Given the description of an element on the screen output the (x, y) to click on. 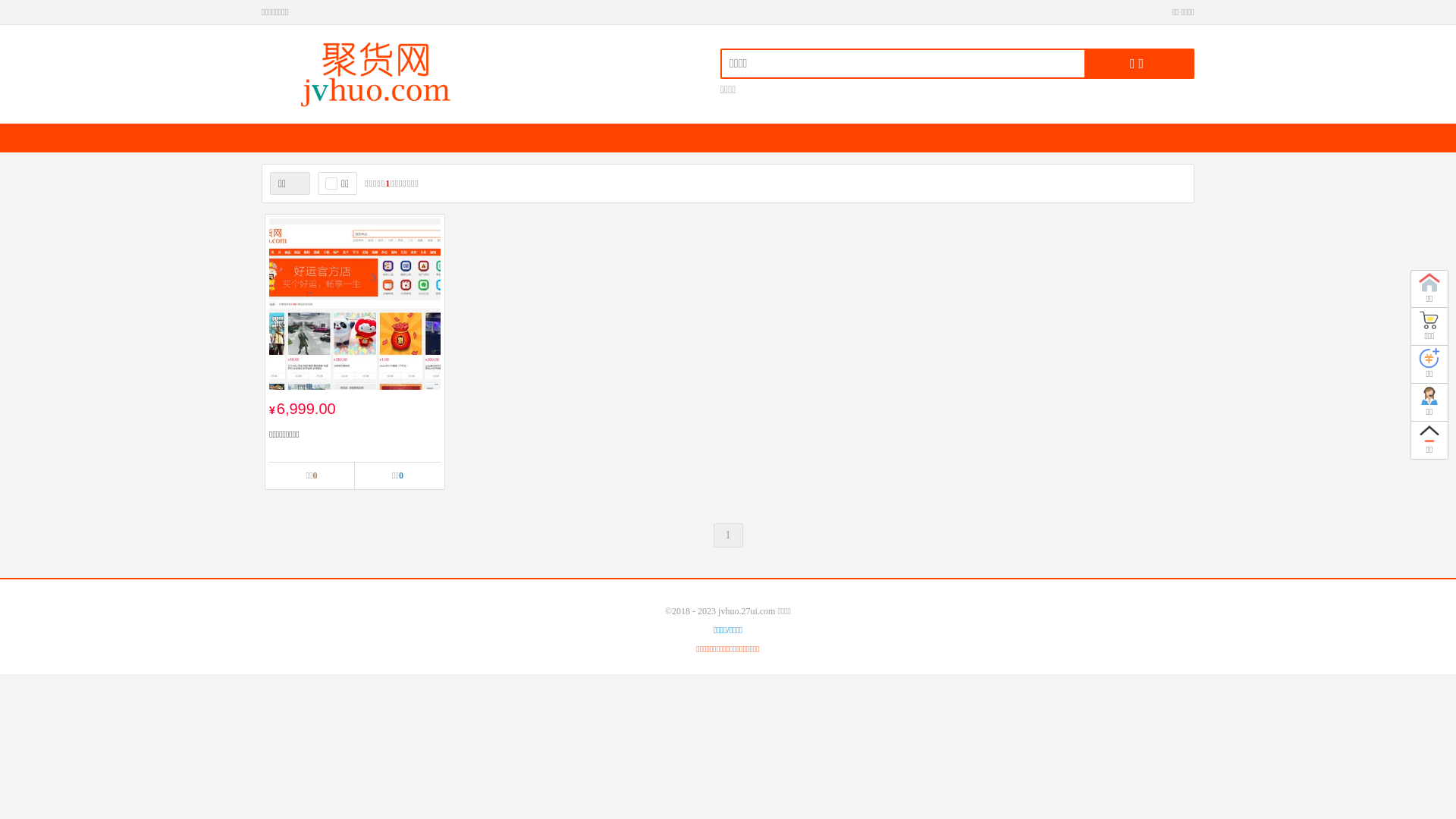
1 Element type: text (728, 535)
